Given the description of an element on the screen output the (x, y) to click on. 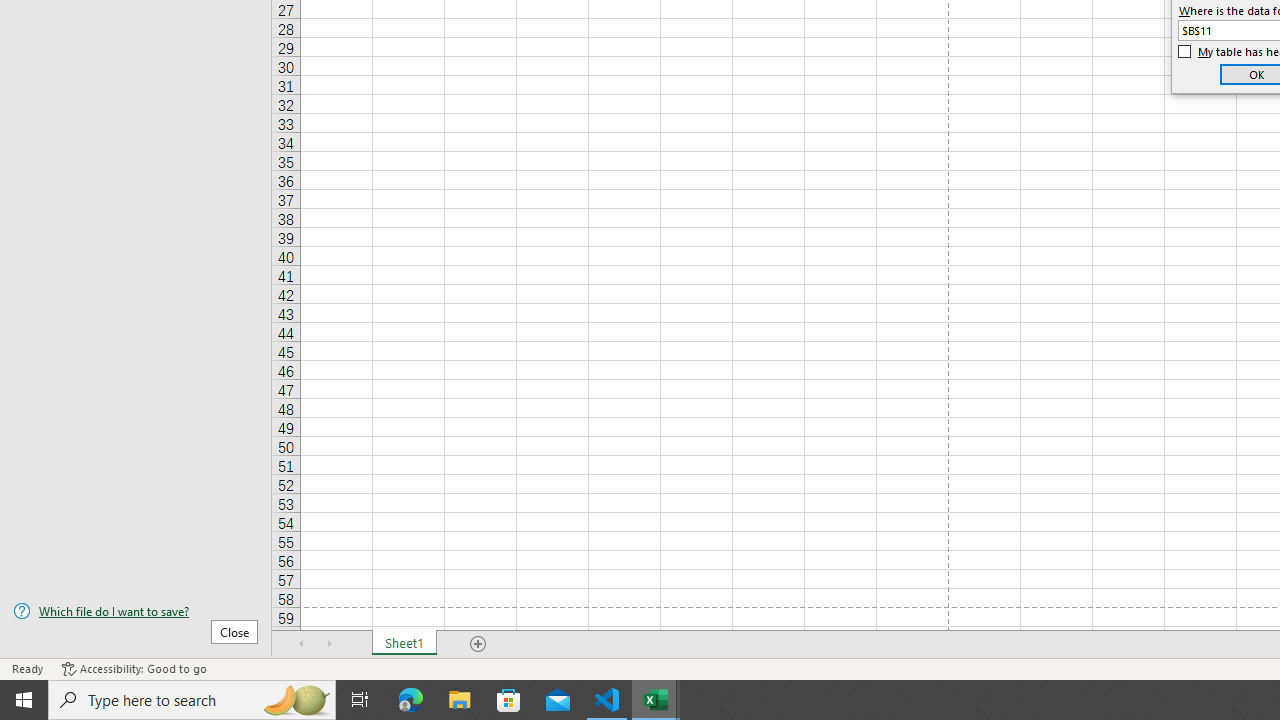
Which file do I want to save? (136, 611)
